Given the description of an element on the screen output the (x, y) to click on. 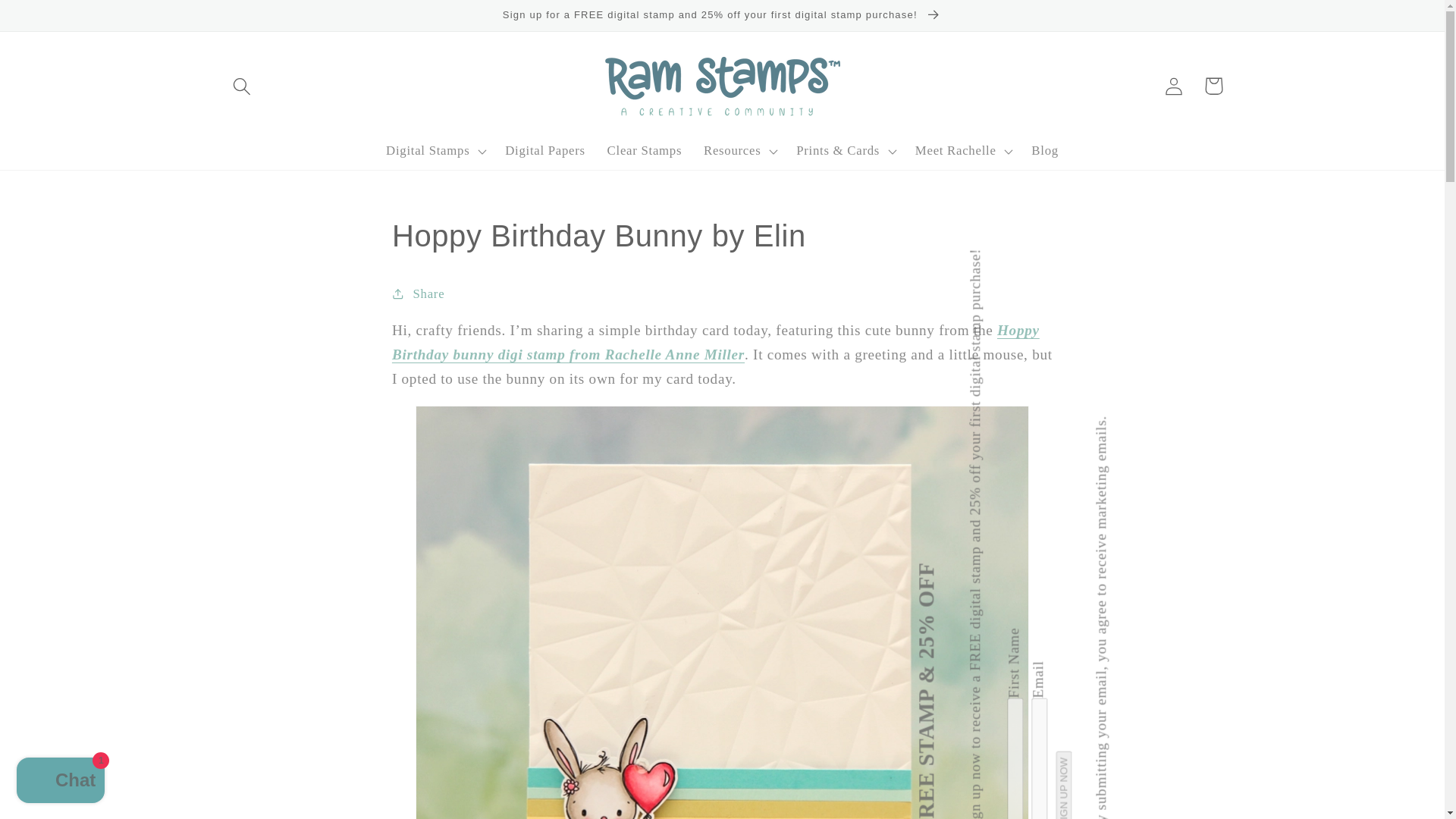
Skip to content (55, 20)
Shopify online store chat (60, 781)
